Given the description of an element on the screen output the (x, y) to click on. 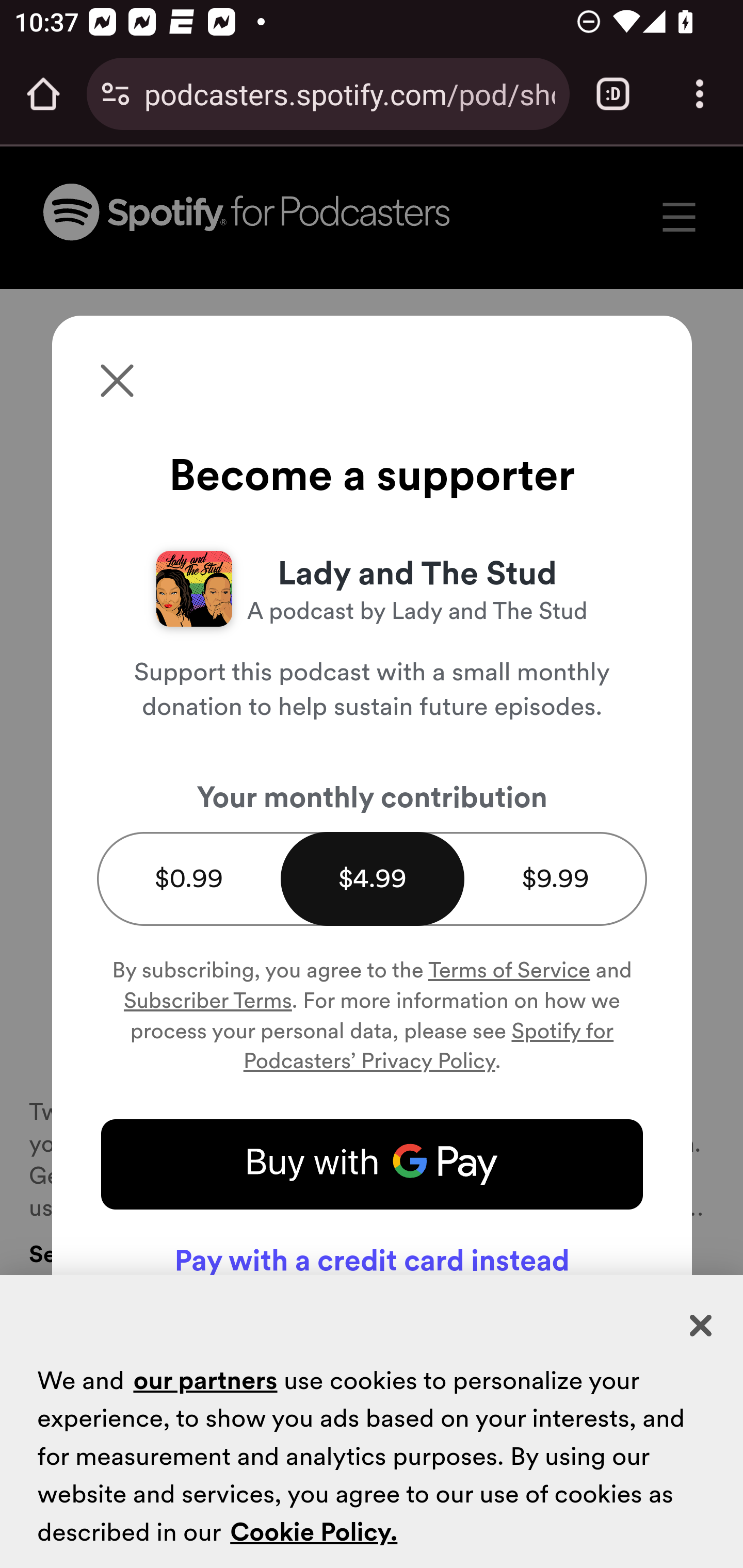
Open the home page (43, 93)
Connection is secure (115, 93)
Switch or close tabs (612, 93)
Customize and control Google Chrome (699, 93)
Close (701, 1325)
our partners (204, 1379)
Cookie Policy. (313, 1531)
